Given the description of an element on the screen output the (x, y) to click on. 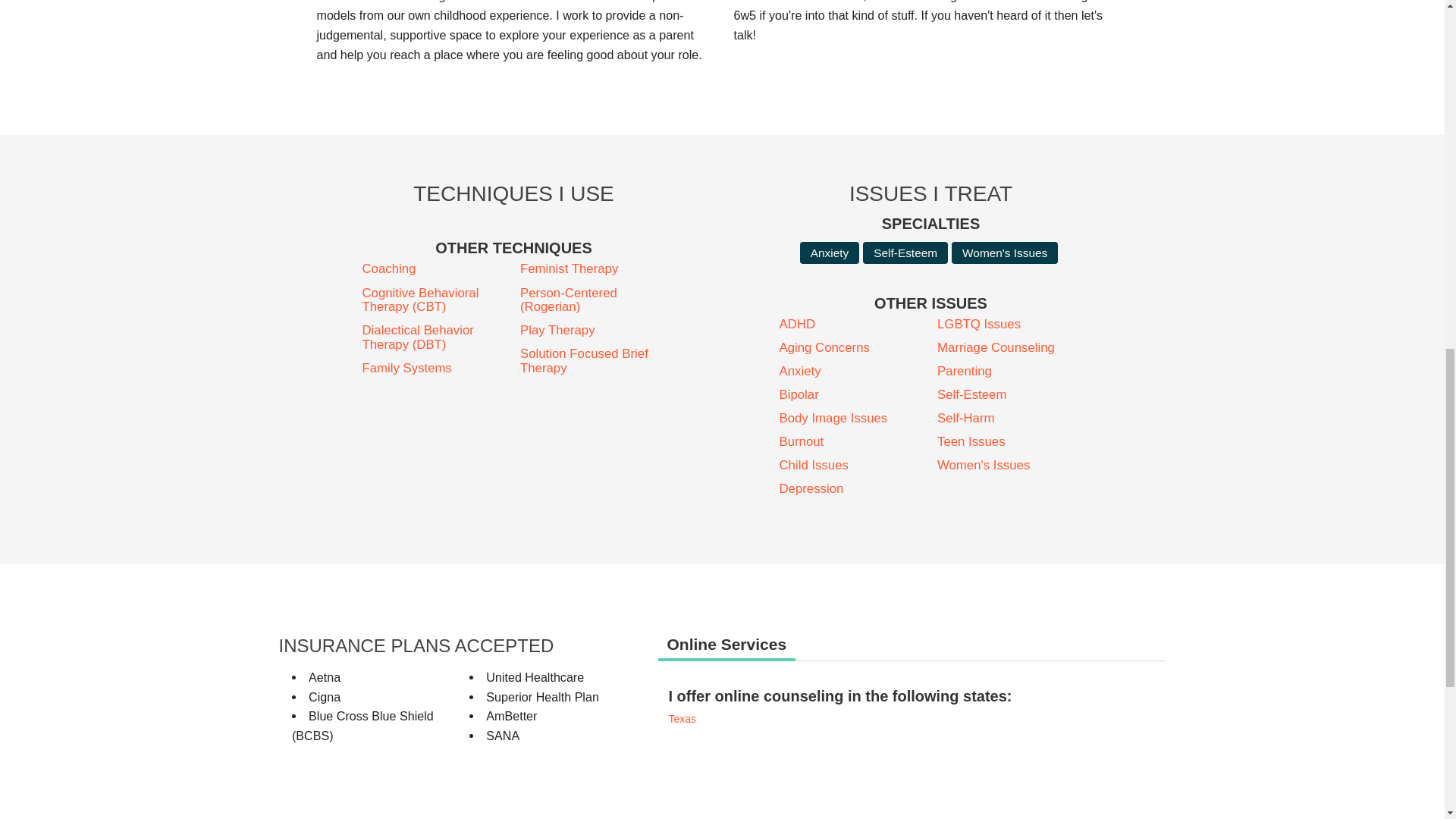
Family Systems (435, 368)
Learn about Feminist Therapy (592, 269)
Learn about Play Therapy (592, 330)
Learn about Coaching (435, 269)
Learn about Solution Focused Brief Therapy (592, 361)
Learn about Family Systems (435, 368)
Coaching (435, 269)
